Given the description of an element on the screen output the (x, y) to click on. 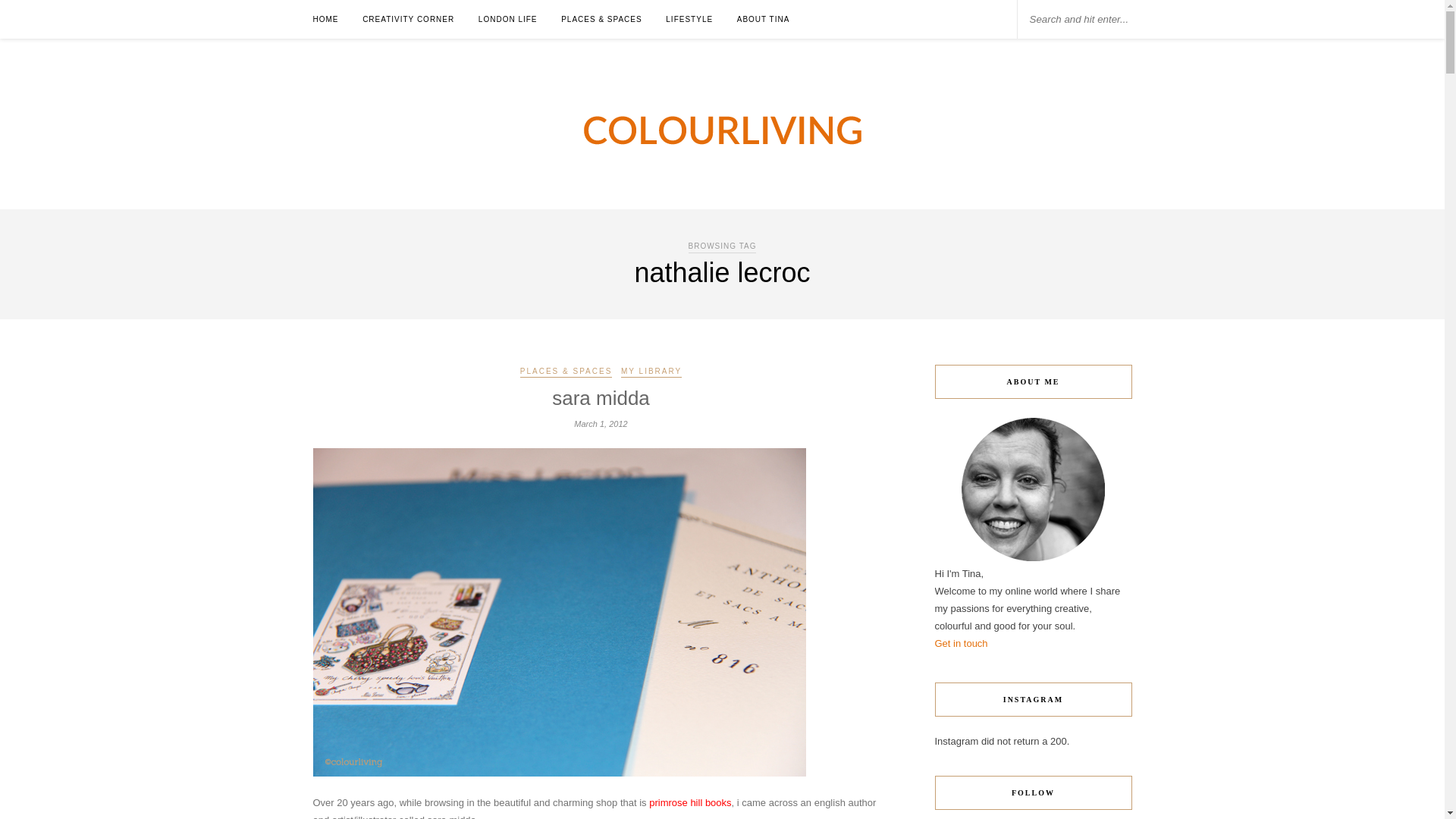
LIFESTYLE (689, 19)
View all posts in My Library (651, 371)
ABOUT TINA (763, 19)
CREATIVITY CORNER (408, 19)
LONDON LIFE (508, 19)
